Given the description of an element on the screen output the (x, y) to click on. 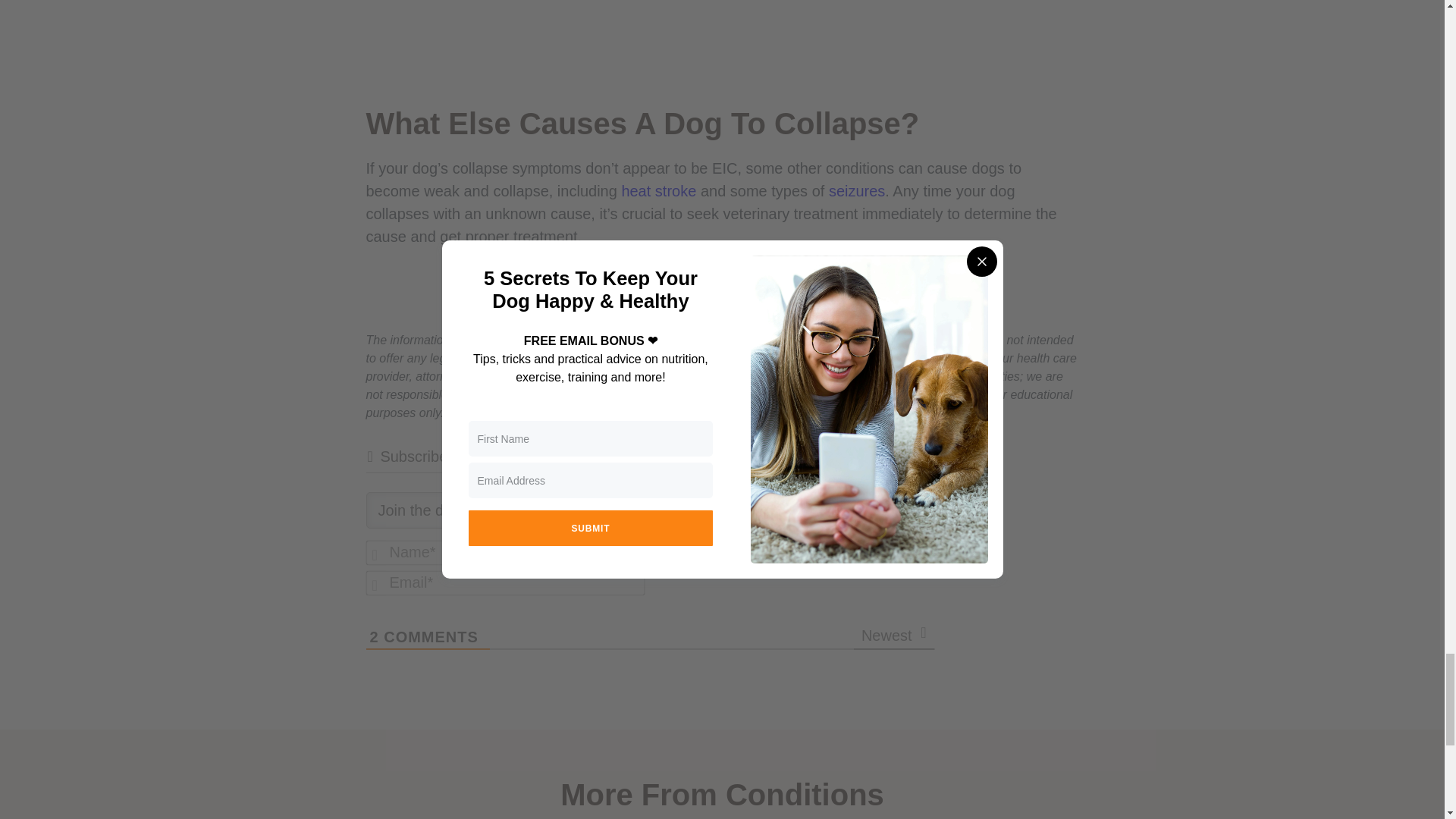
Post Comment (851, 563)
